Given the description of an element on the screen output the (x, y) to click on. 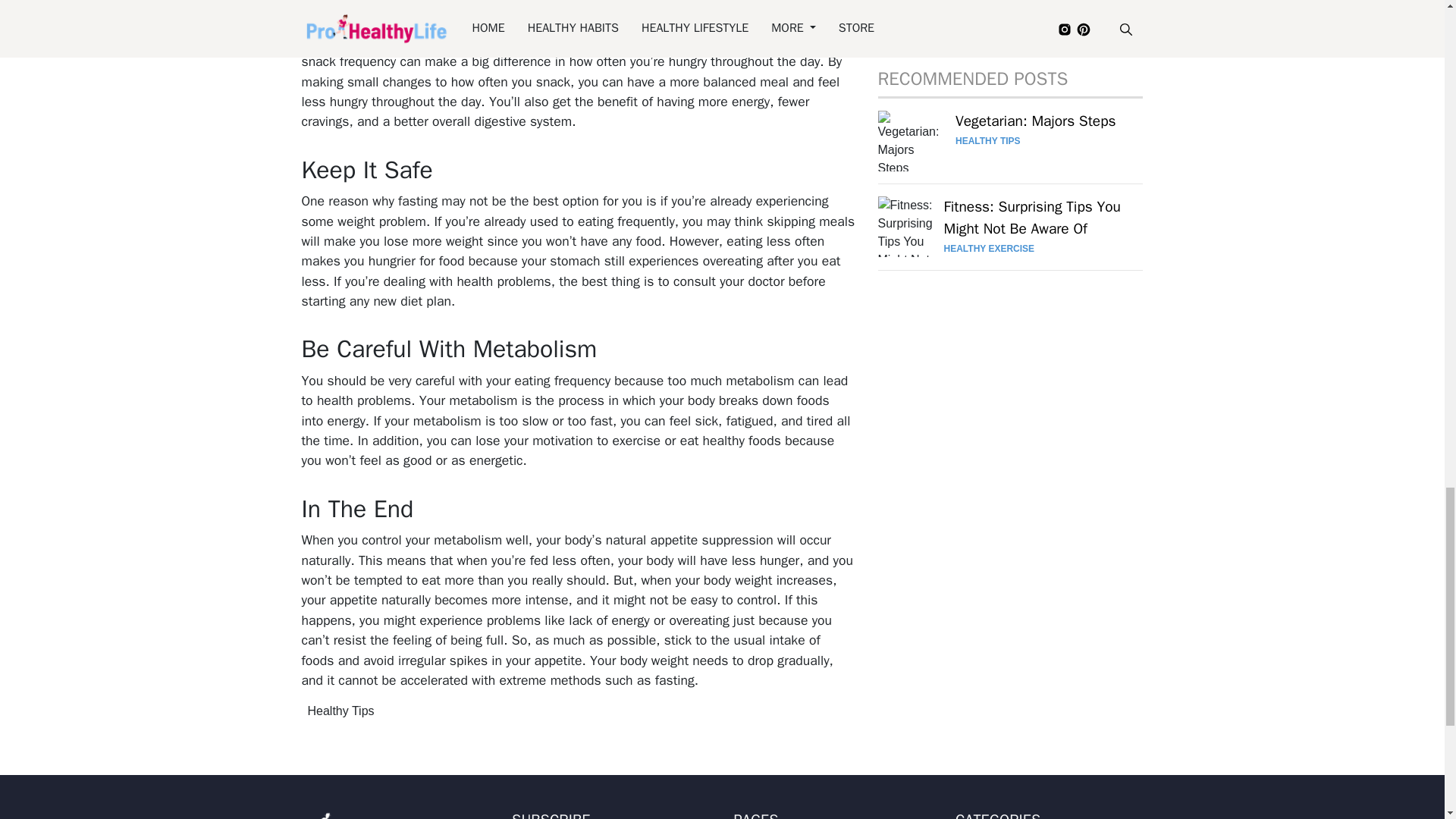
Healthy Tips (340, 710)
